Given the description of an element on the screen output the (x, y) to click on. 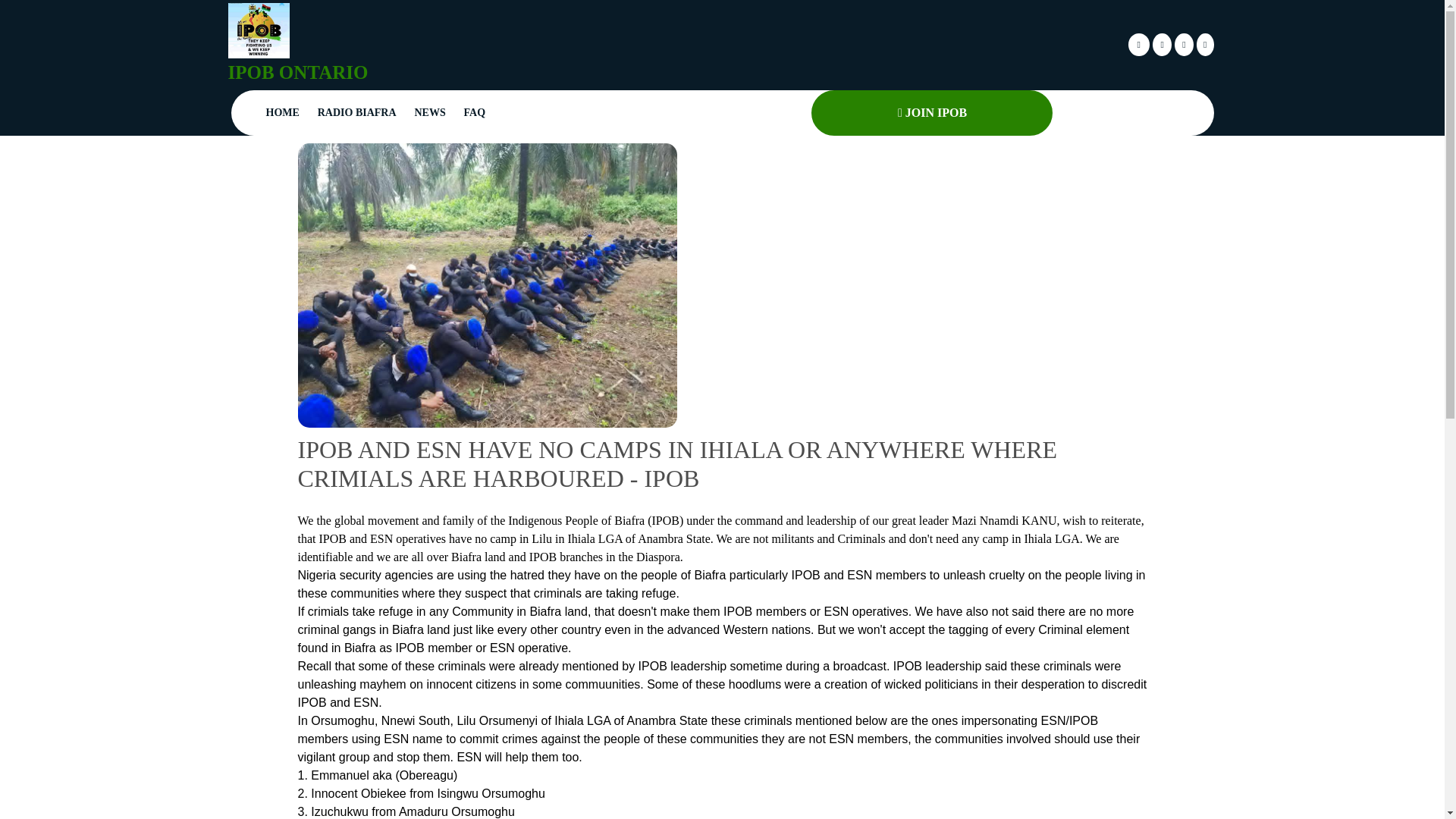
RADIO BIAFRA (357, 112)
NEWS (429, 112)
HOME (281, 112)
IPOB ONTARIO (297, 72)
